Given the description of an element on the screen output the (x, y) to click on. 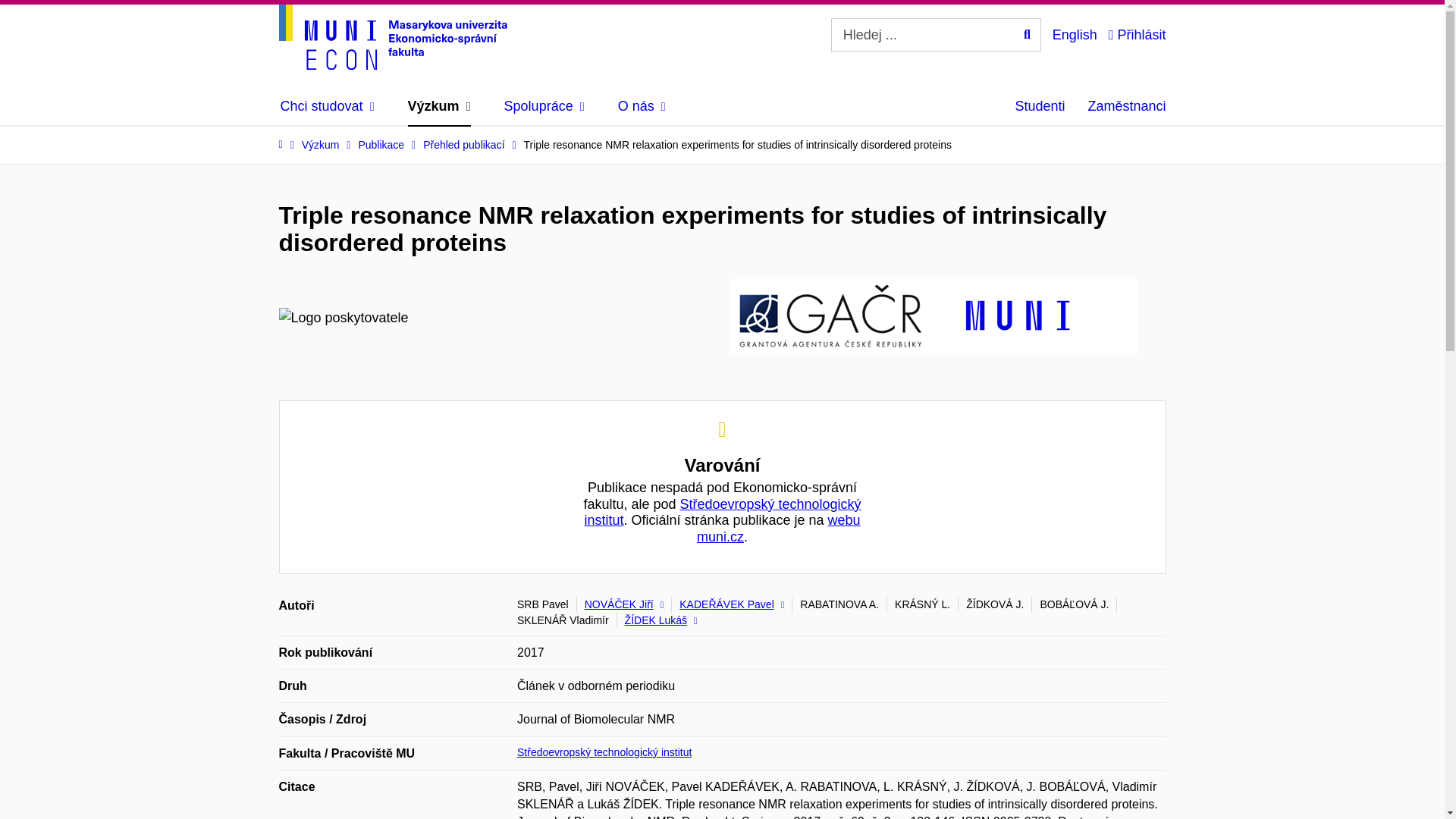
English (1074, 34)
Homepage webu (392, 36)
Chci studovat (327, 105)
